Given the description of an element on the screen output the (x, y) to click on. 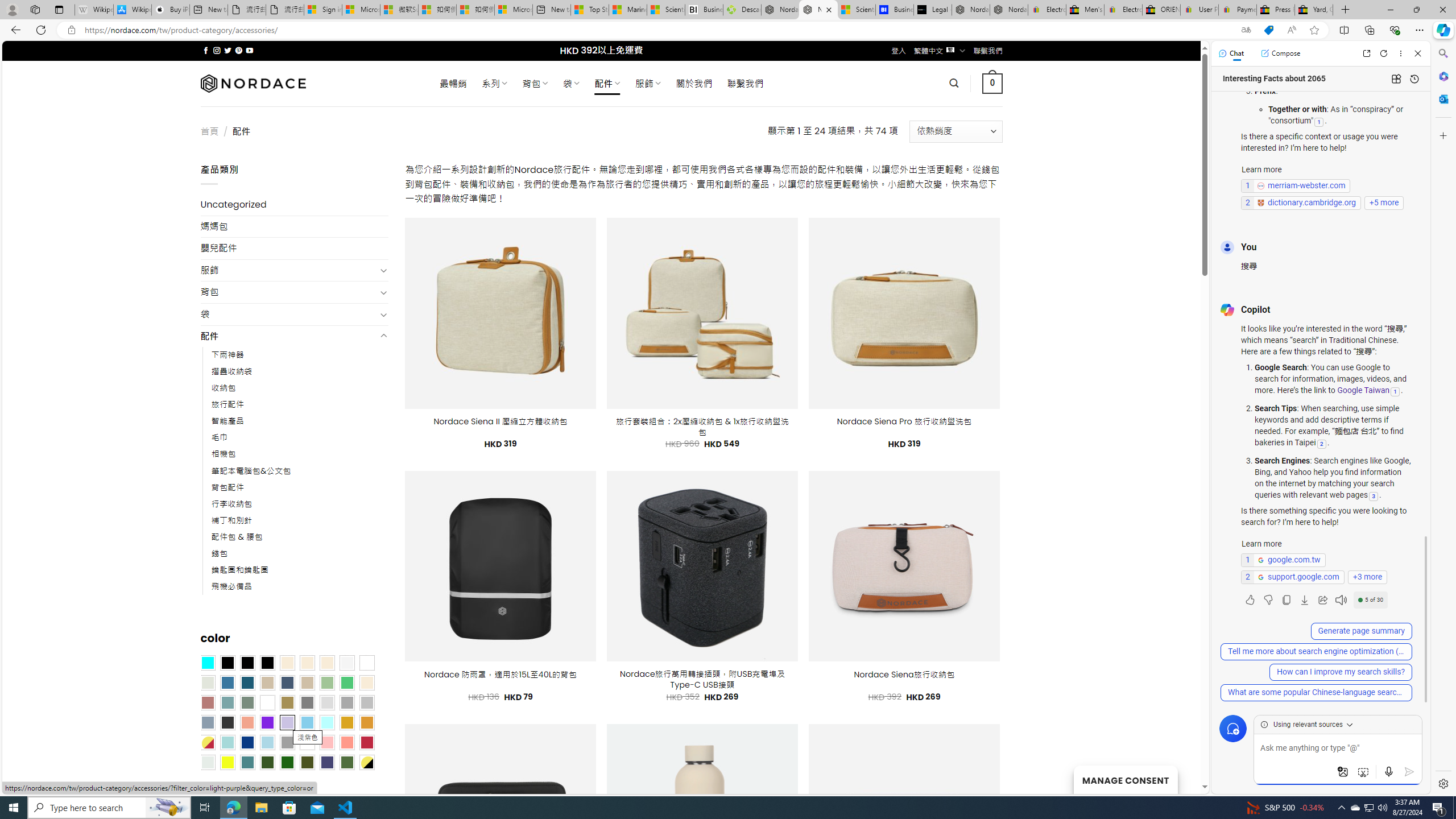
 0  (992, 83)
